Given the description of an element on the screen output the (x, y) to click on. 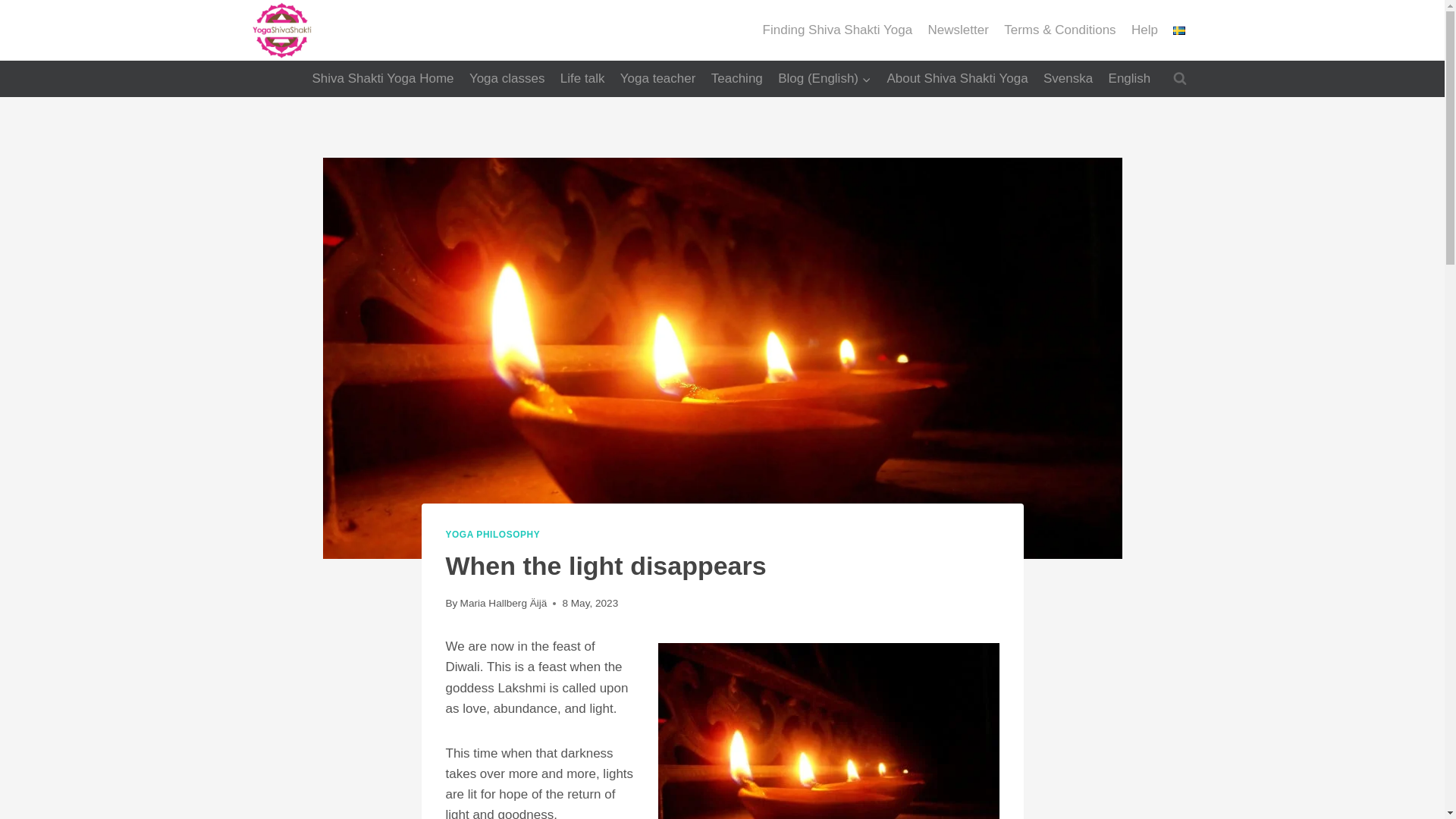
YOGA PHILOSOPHY (492, 534)
English (1128, 78)
Teaching (736, 78)
Newsletter (957, 30)
Help (1145, 30)
Life talk (582, 78)
About Shiva Shakti Yoga (957, 78)
Finding Shiva Shakti Yoga (837, 30)
Svenska (1067, 78)
Shiva Shakti Yoga Home (382, 78)
Yoga classes (507, 78)
Yoga teacher (657, 78)
